Given the description of an element on the screen output the (x, y) to click on. 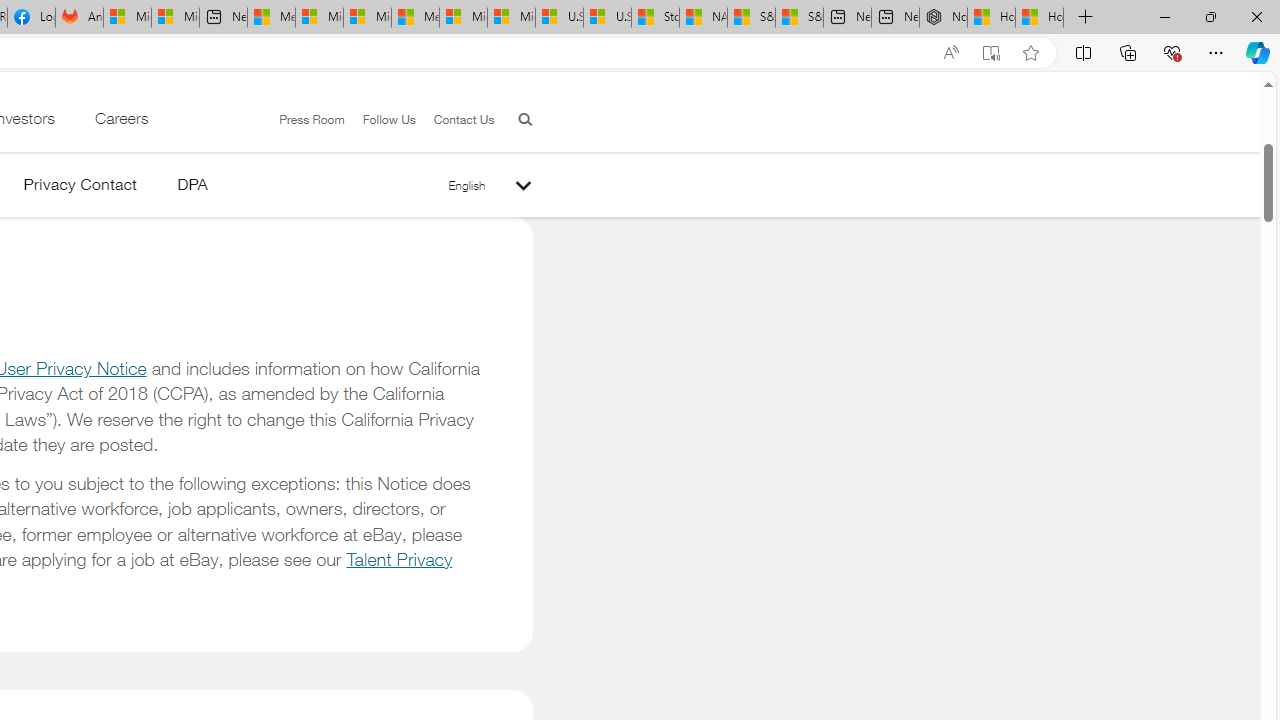
Enter Immersive Reader (F9) (991, 53)
S&P 500, Nasdaq end lower, weighed by Nvidia dip | Watch (799, 17)
Microsoft account | Privacy (319, 17)
